Given the description of an element on the screen output the (x, y) to click on. 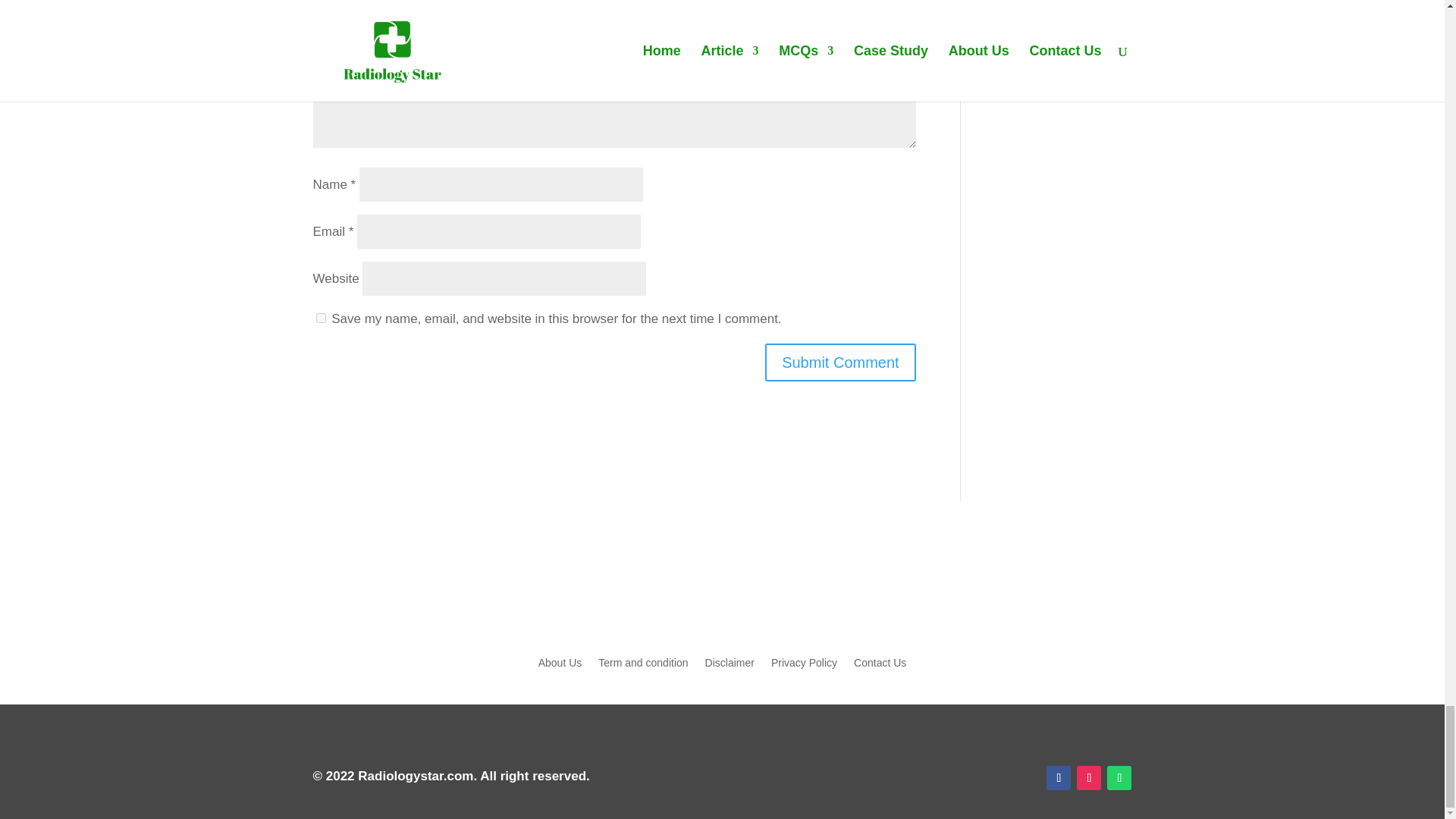
yes (319, 317)
Follow on Instagram (1088, 777)
Follow on Facebook (1058, 777)
Disclaimer (729, 665)
Follow on WhatsApp (1118, 777)
Submit Comment (840, 362)
Privacy Policy (804, 665)
Contact Us (879, 665)
Term and condition (642, 665)
Submit Comment (840, 362)
